Given the description of an element on the screen output the (x, y) to click on. 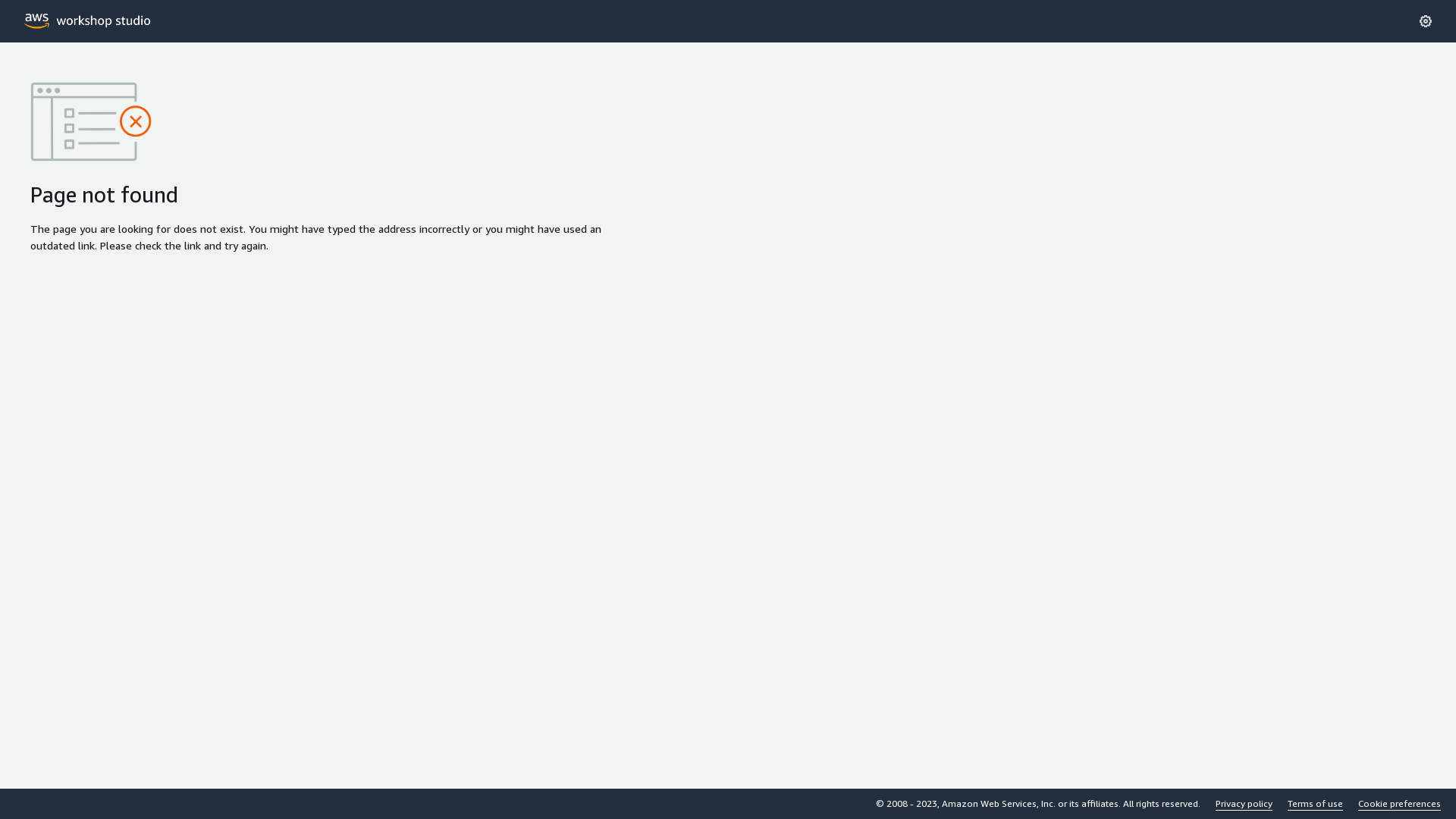
Cookie preferences Element type: text (1399, 803)
Privacy policy Element type: text (1243, 803)
Terms of use Element type: text (1315, 803)
